Given the description of an element on the screen output the (x, y) to click on. 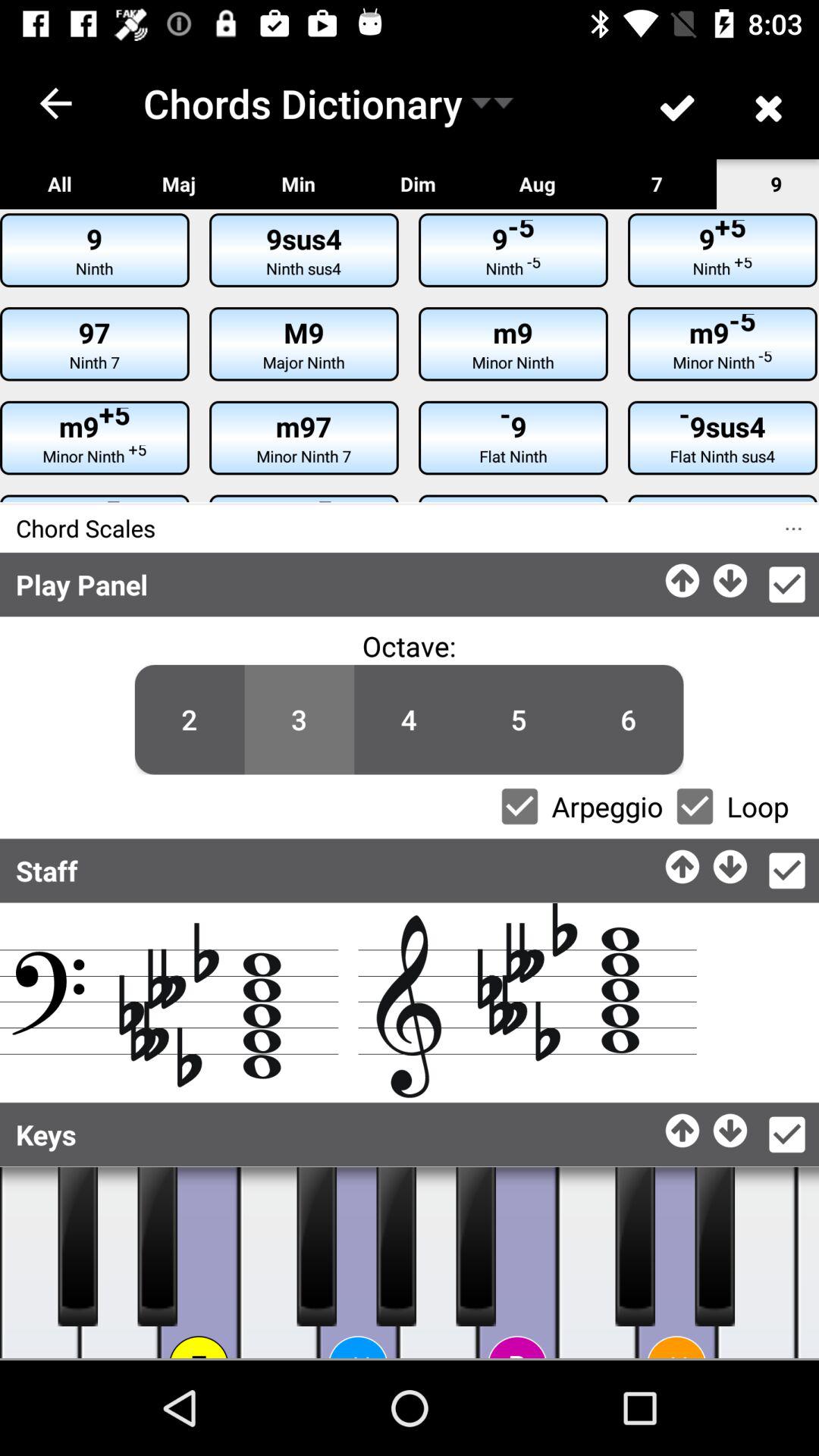
piano white key (198, 1262)
